Given the description of an element on the screen output the (x, y) to click on. 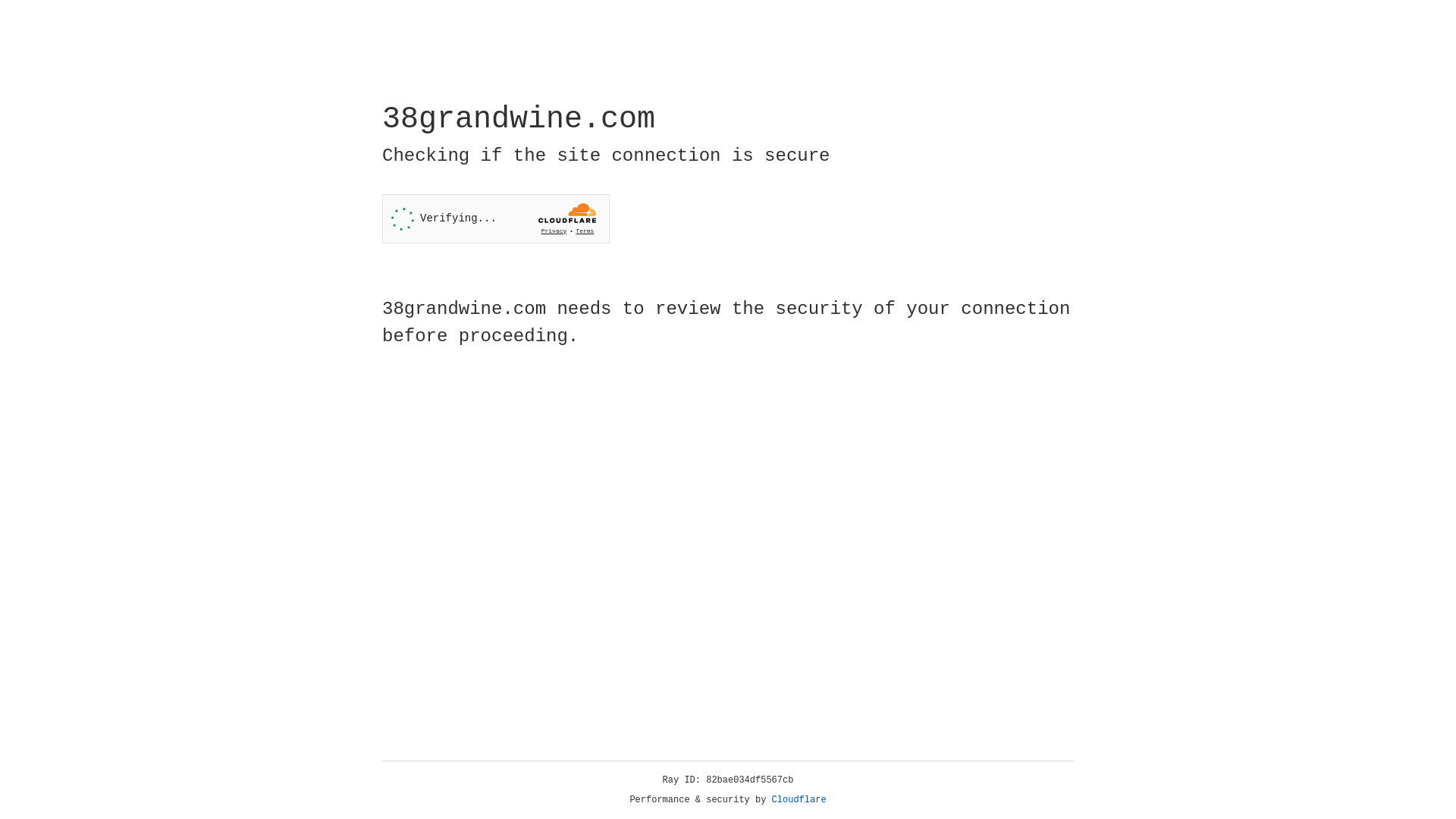
Widget containing a Cloudflare security challenge Element type: hover (495, 218)
Cloudflare Element type: text (798, 799)
